Given the description of an element on the screen output the (x, y) to click on. 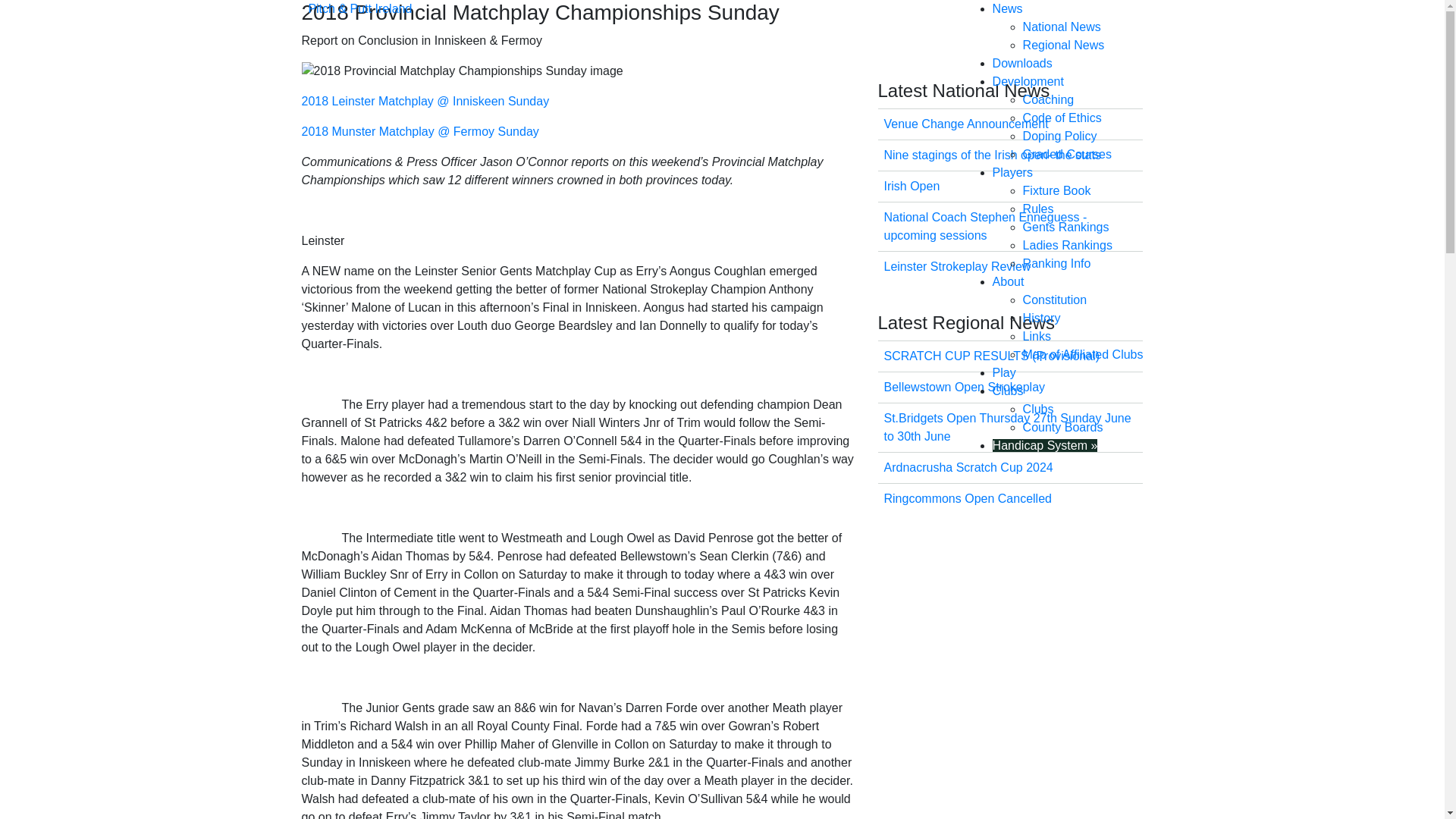
Players (1012, 172)
Nine stagings of the Irish open- the stats (991, 154)
Development (1028, 81)
Downloads (1022, 62)
About (1008, 281)
Irish Open (911, 185)
Ringcommons Open Cancelled (967, 498)
Venue Change Announcement (965, 123)
Constitution (1055, 299)
Map of Affiliated Clubs (1082, 354)
Code of Ethics (1062, 117)
Leinster Strokeplay Review (956, 266)
Gents Rankings (1066, 226)
Clubs (1038, 408)
St.Bridgets Open Thursday 27th Sunday June to 30th June (1007, 427)
